Given the description of an element on the screen output the (x, y) to click on. 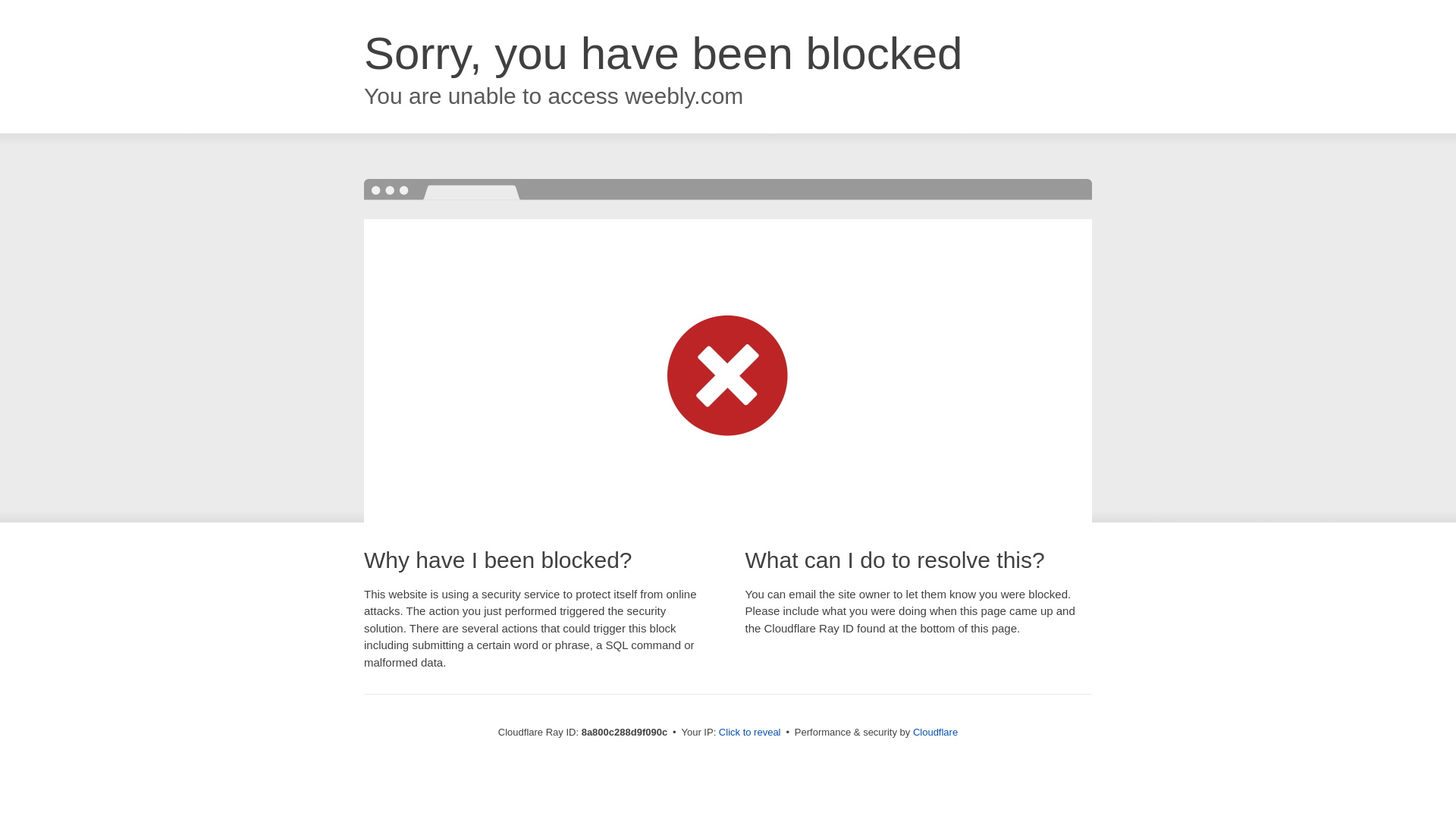
Cloudflare (935, 731)
Click to reveal (749, 732)
